Given the description of an element on the screen output the (x, y) to click on. 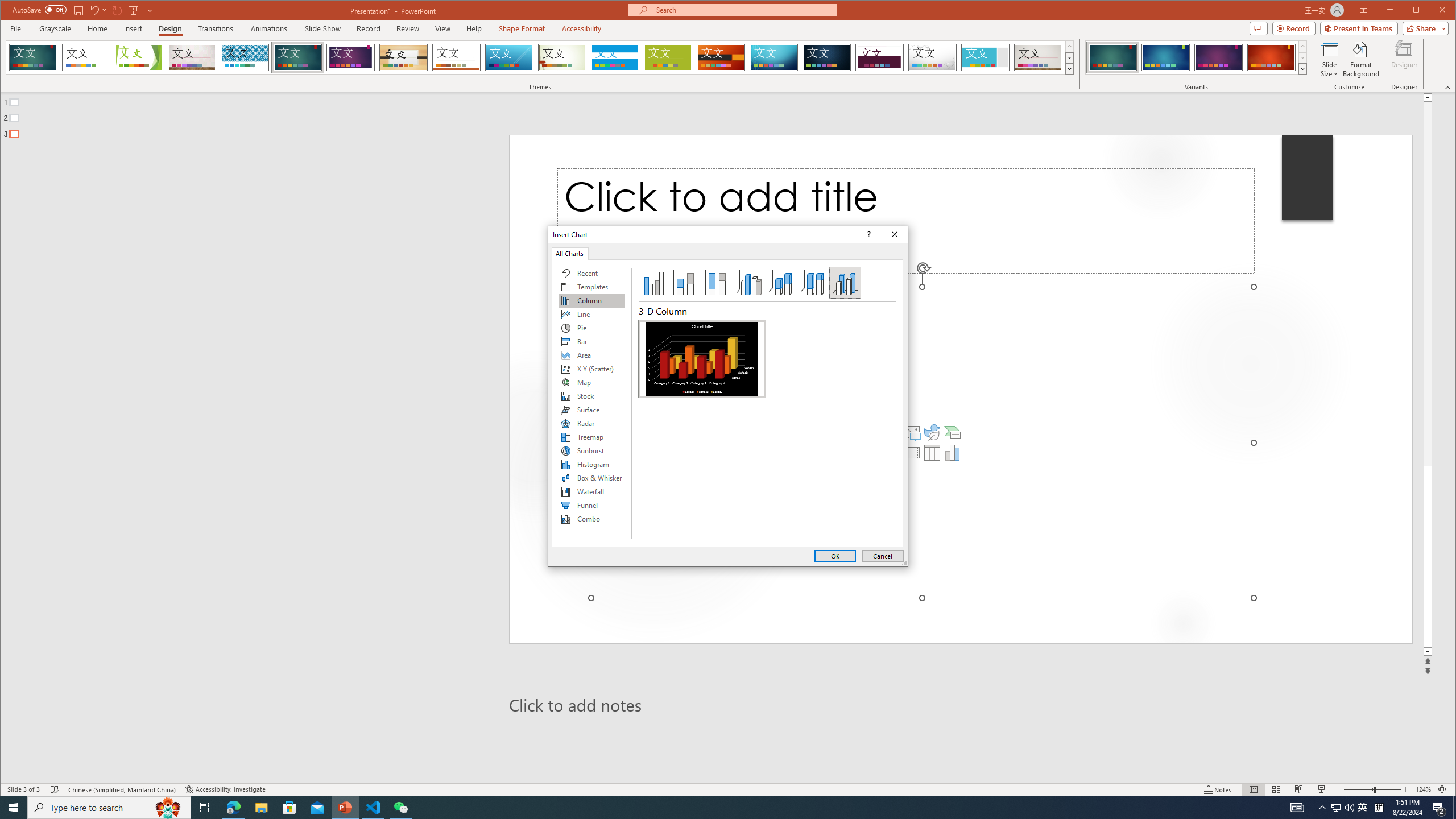
Area (591, 354)
All Charts (569, 253)
AutomationID: ThemeVariantsGallery (1196, 57)
Integral (244, 57)
Ion Variant 1 (1112, 57)
Damask (826, 57)
